Given the description of an element on the screen output the (x, y) to click on. 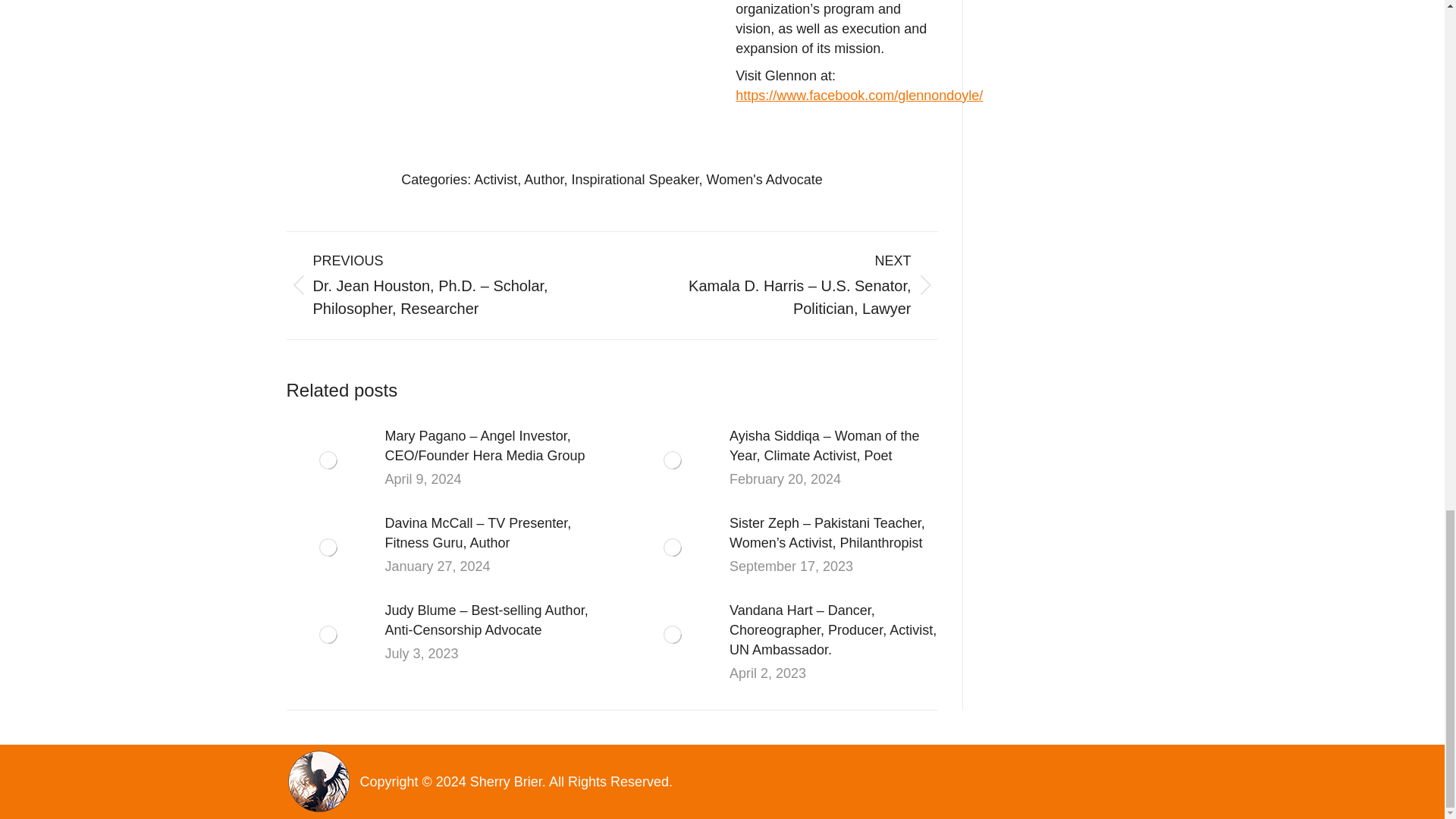
Activist (495, 179)
Author (543, 179)
Women's Advocate (764, 179)
Inspirational Speaker (634, 179)
